Given the description of an element on the screen output the (x, y) to click on. 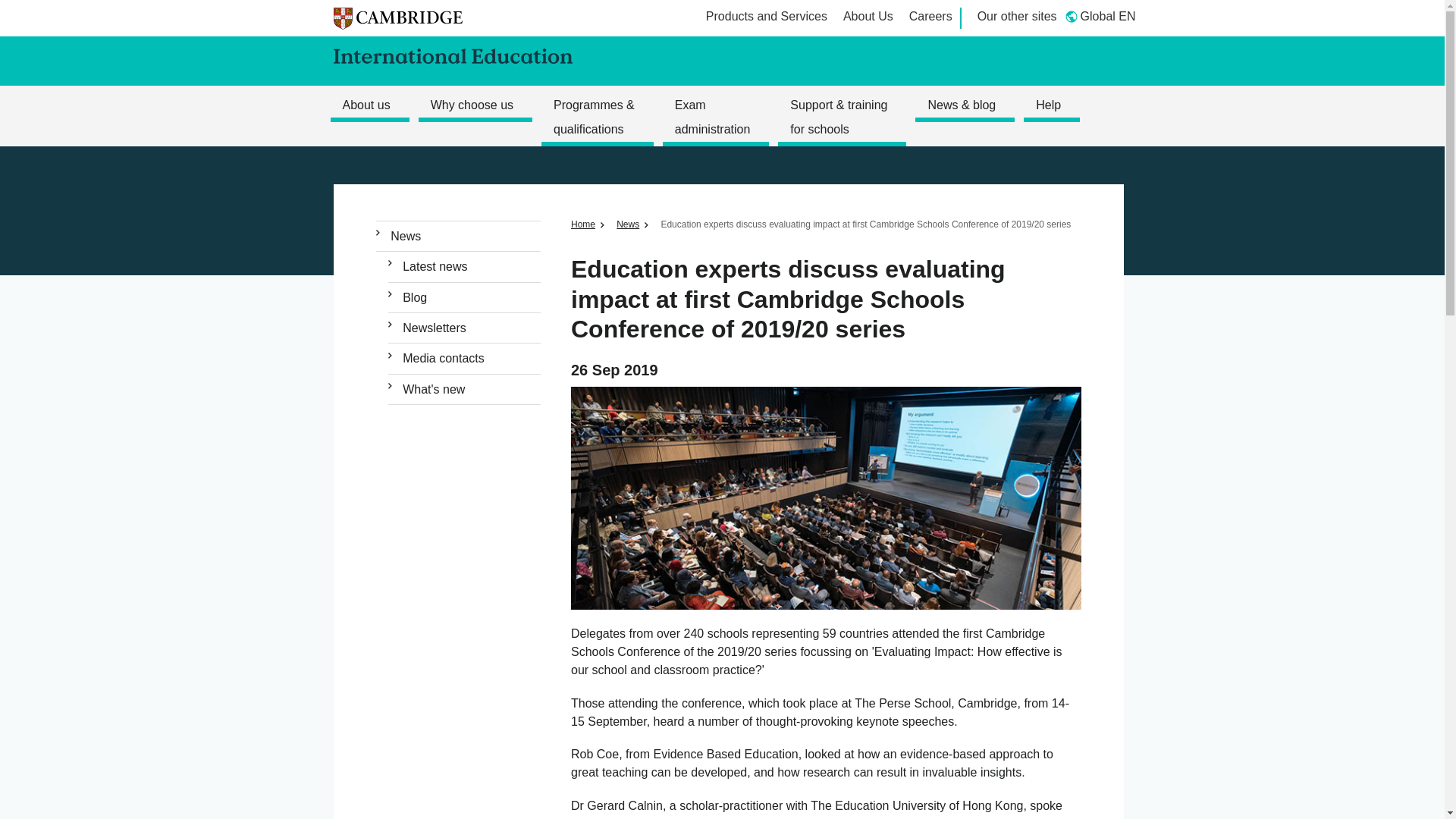
Cambridge Assessment International Education (398, 20)
Our other sites (1013, 16)
About Us (864, 16)
Careers (926, 16)
Products and Services (762, 16)
Products and Services (762, 16)
